Given the description of an element on the screen output the (x, y) to click on. 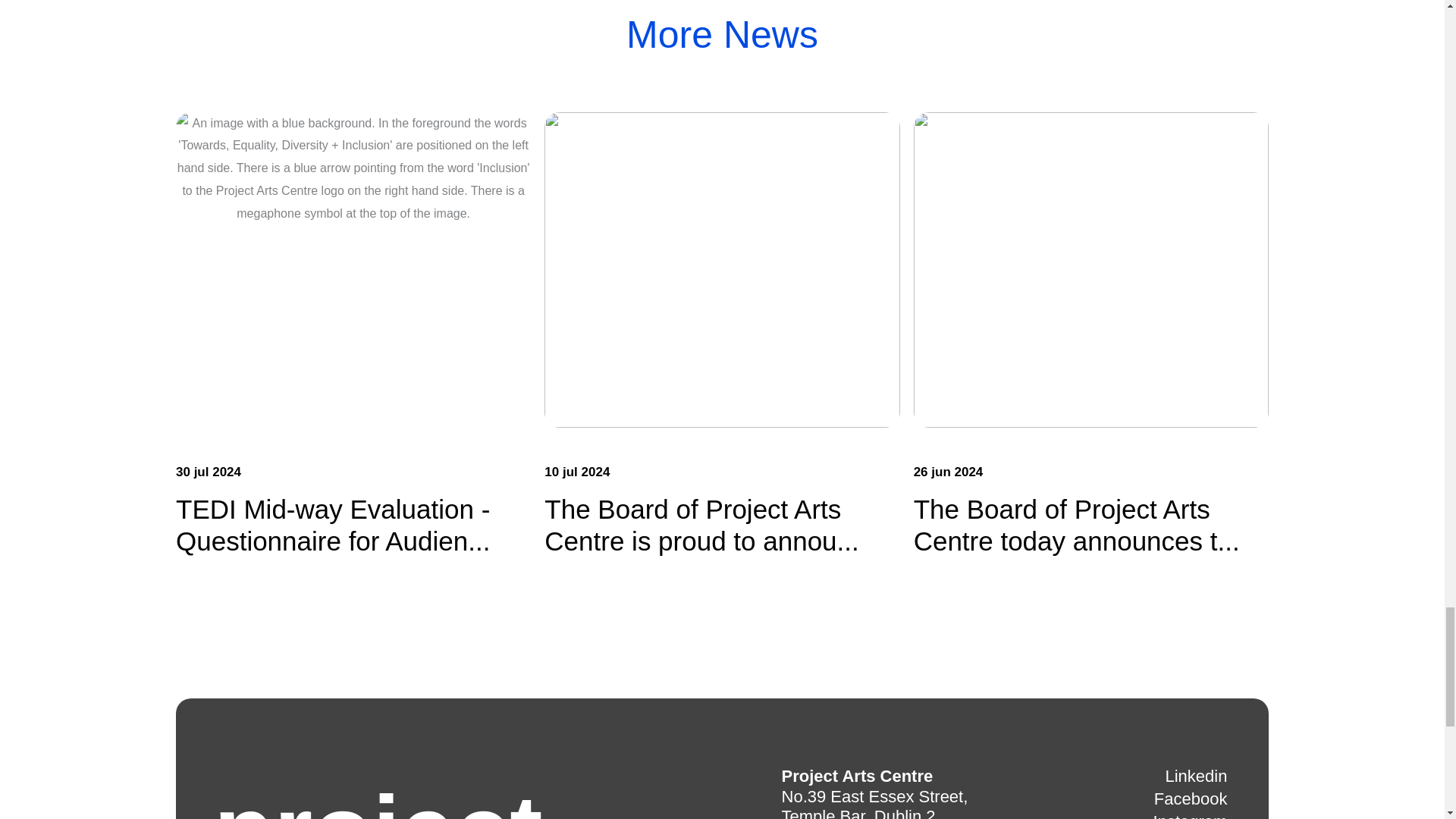
Instagram (1190, 815)
Facebook (1190, 799)
Linkedin (1195, 776)
